Given the description of an element on the screen output the (x, y) to click on. 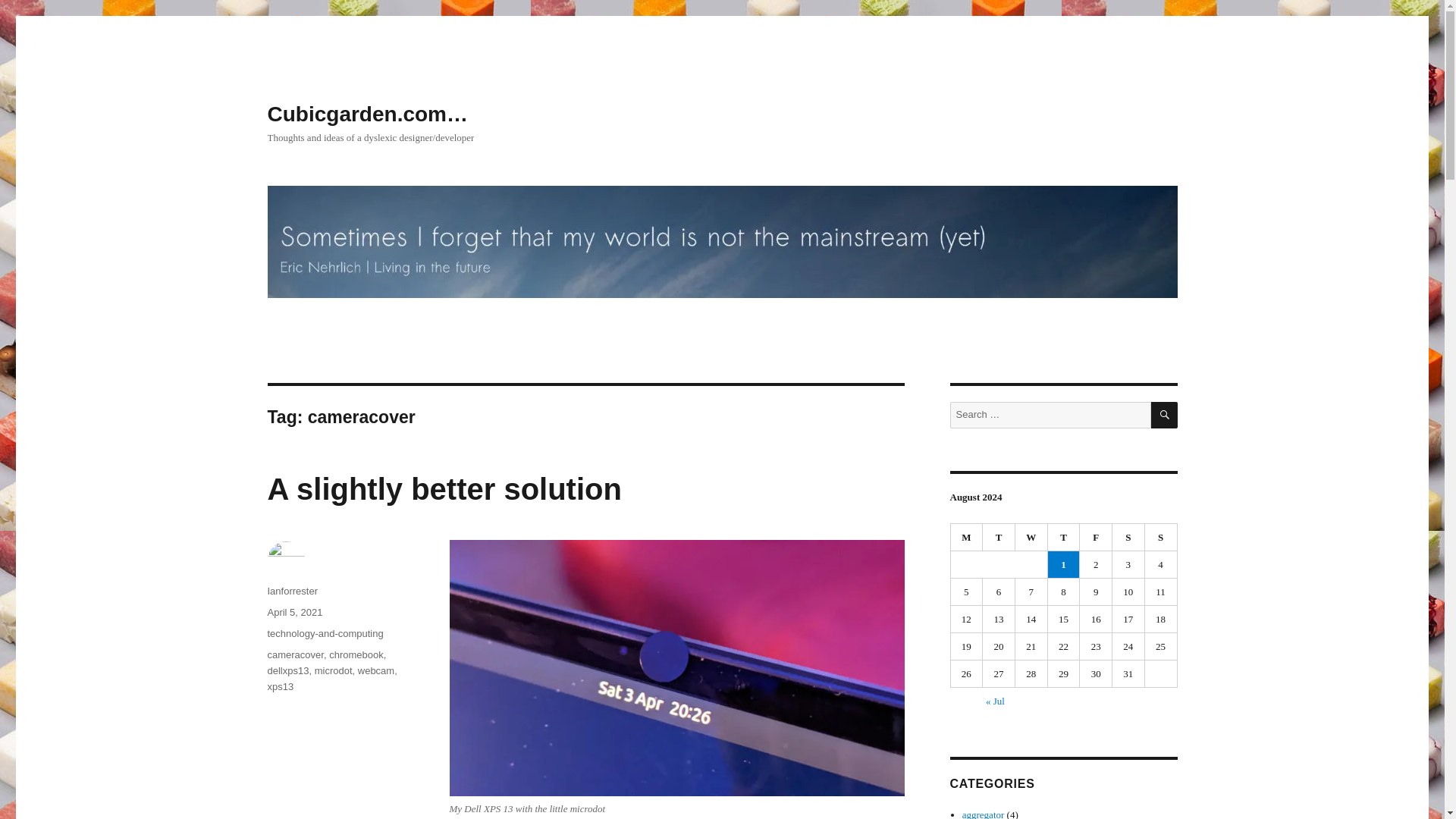
dellxps13 (287, 670)
Ianforrester (291, 591)
microdot (333, 670)
xps13 (280, 686)
technology-and-computing (324, 633)
Monday (967, 537)
cameracover (294, 654)
SEARCH (1164, 415)
Wednesday (1031, 537)
April 5, 2021 (293, 612)
Sunday (1160, 537)
Saturday (1128, 537)
webcam (376, 670)
Thursday (1064, 537)
aggregator (983, 814)
